Given the description of an element on the screen output the (x, y) to click on. 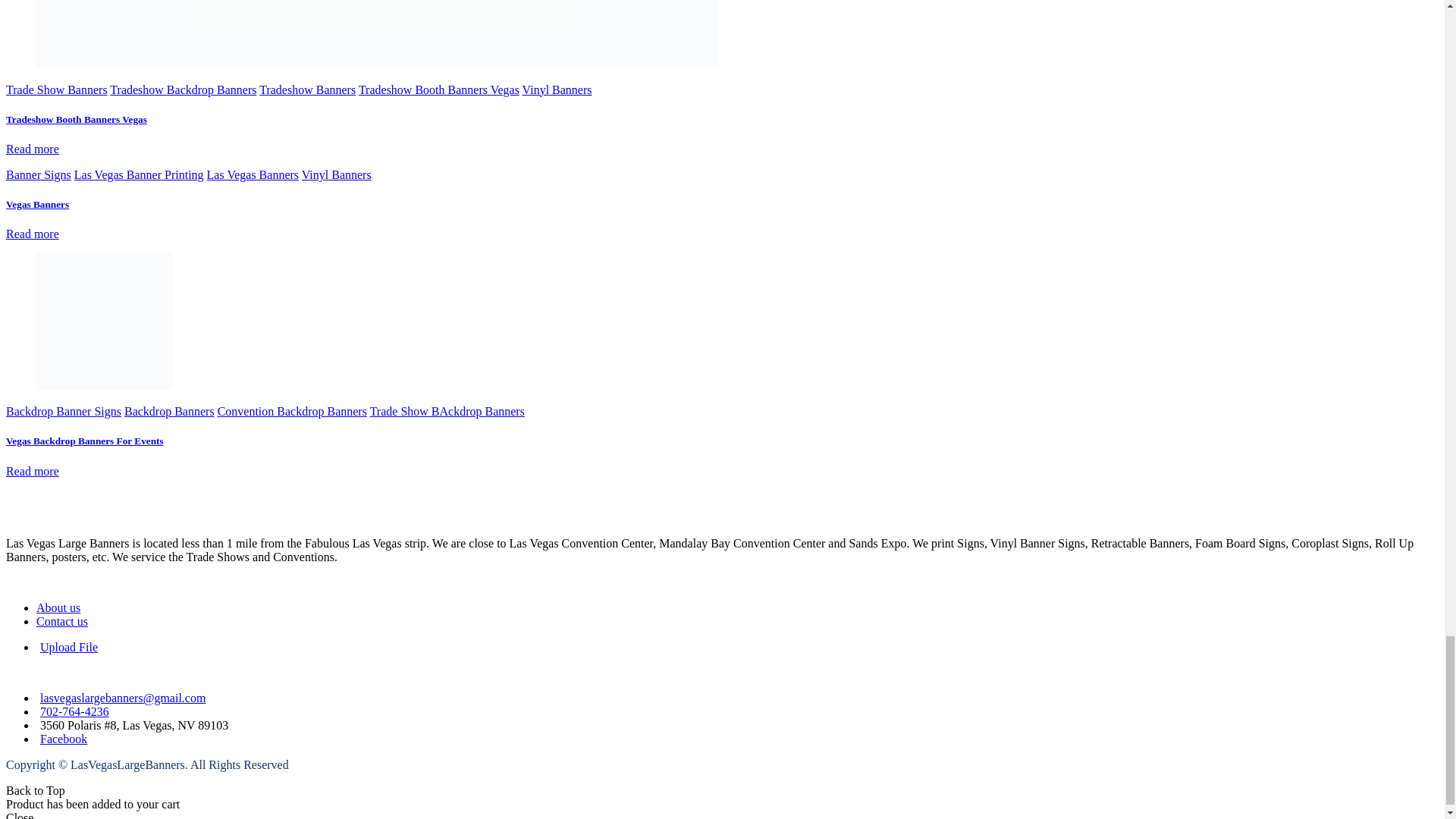
Back to Top (35, 789)
Back to Top (35, 789)
